Given the description of an element on the screen output the (x, y) to click on. 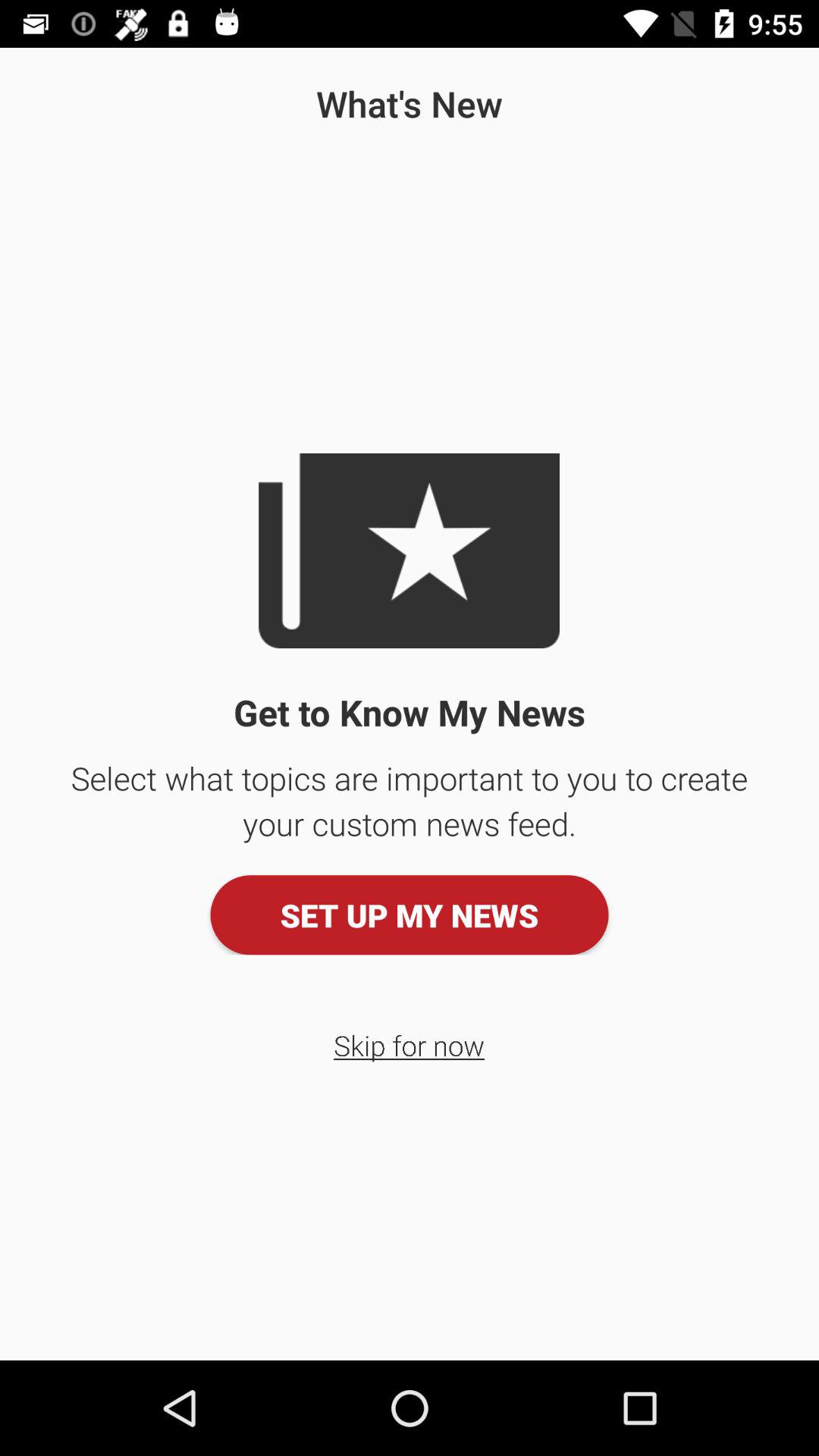
turn off the item above skip for now icon (409, 914)
